Given the description of an element on the screen output the (x, y) to click on. 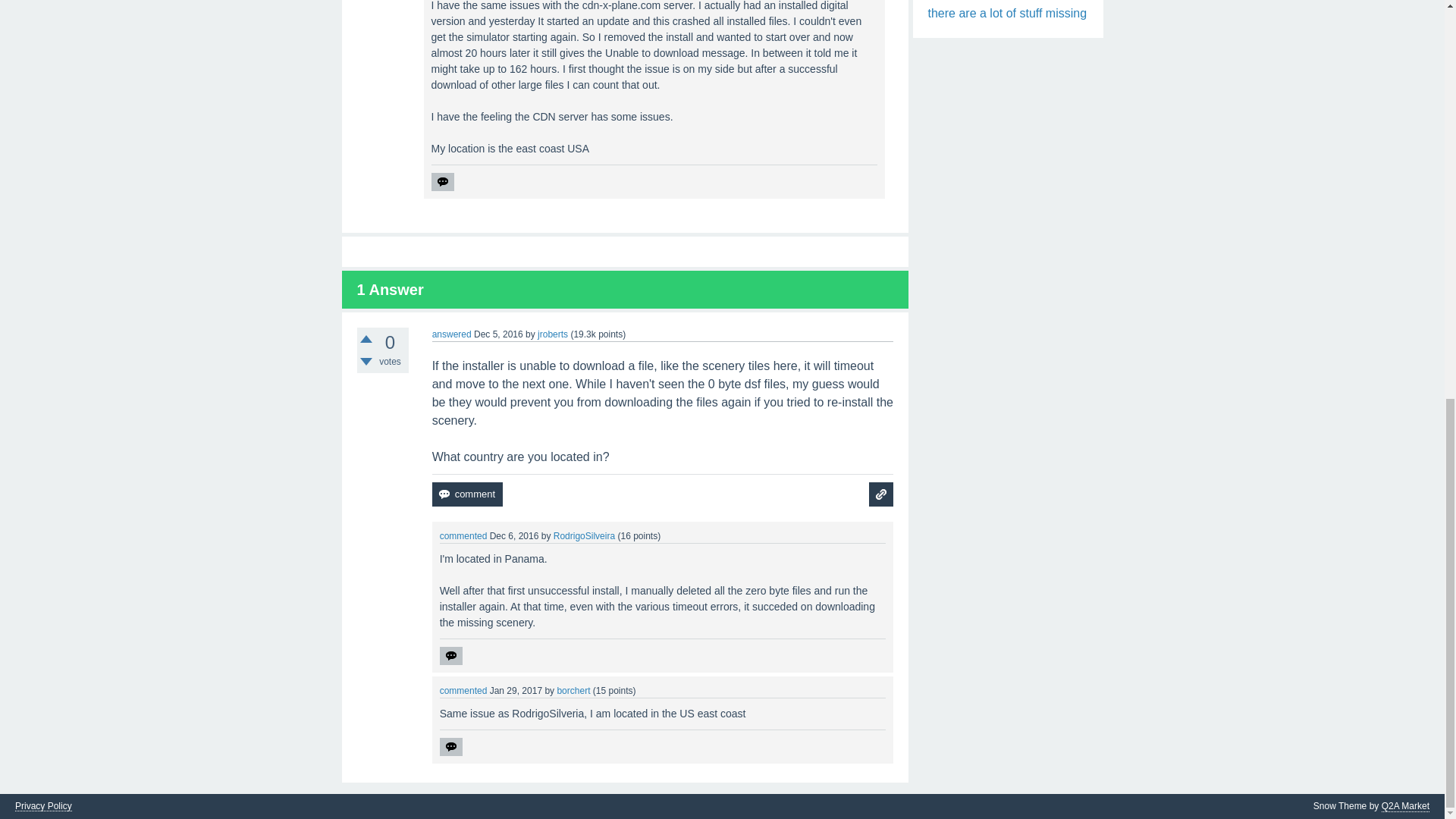
jroberts (552, 334)
RodrigoSilveira (583, 535)
reply (451, 656)
comment (467, 494)
comment (467, 494)
answered (451, 334)
Click to vote up (365, 338)
reply (441, 181)
Ask a new question relating to this answer (881, 494)
Reply to this comment (451, 656)
Add a comment on this answer (467, 494)
reply (441, 181)
reply (451, 746)
Reply to this comment (441, 181)
Click to vote down (365, 361)
